Given the description of an element on the screen output the (x, y) to click on. 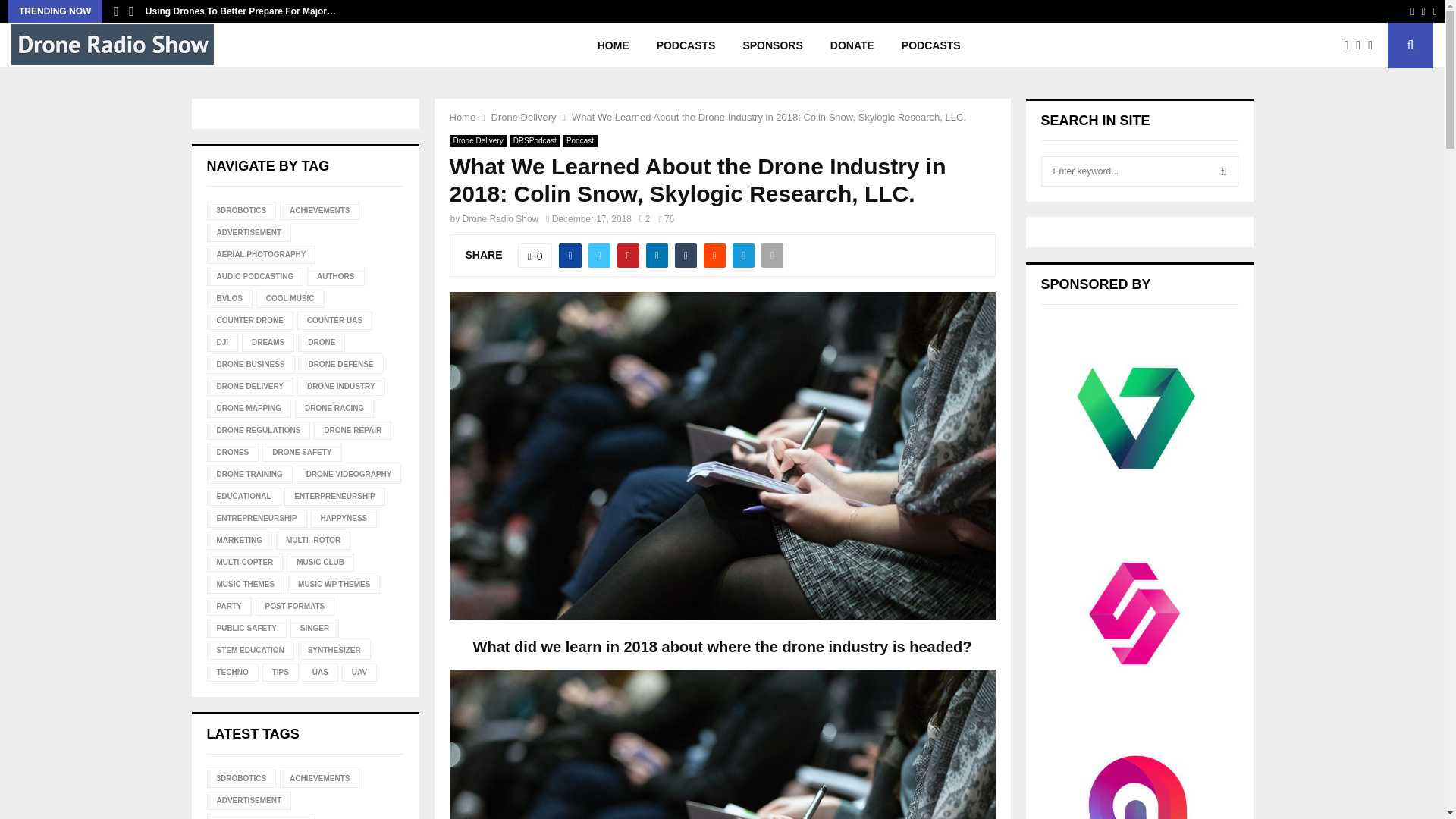
PODCASTS (931, 44)
SPONSORS (772, 44)
DONATE (852, 44)
Like (535, 255)
HOME (613, 44)
PODCASTS (686, 44)
